Given the description of an element on the screen output the (x, y) to click on. 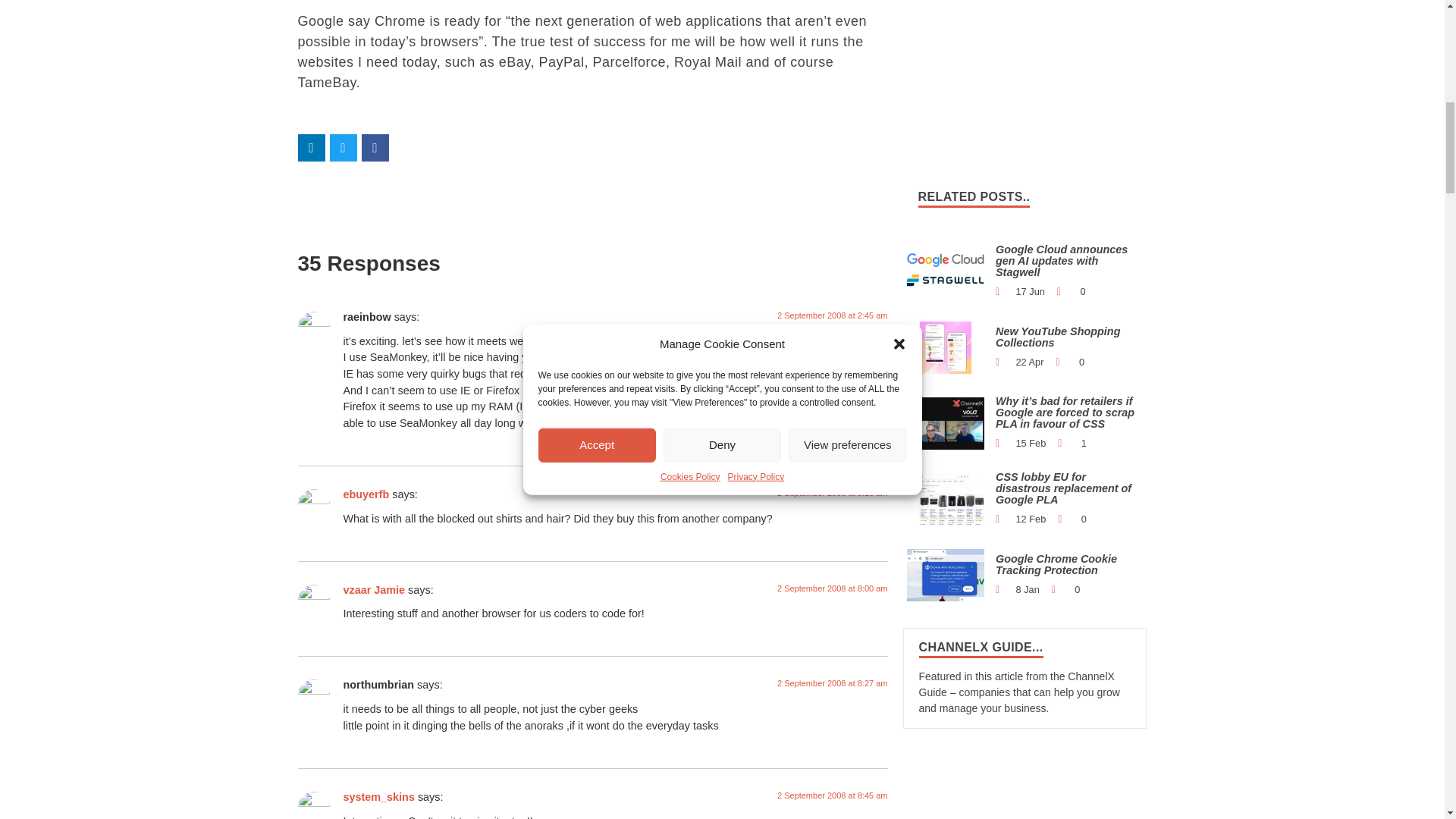
Google Cloud announces gen AI updates with Stagwell (946, 271)
New YouTube Shopping Collections (946, 347)
Google PLA (946, 498)
Google Chrome Cookie Tracking Protection (946, 574)
